Given the description of an element on the screen output the (x, y) to click on. 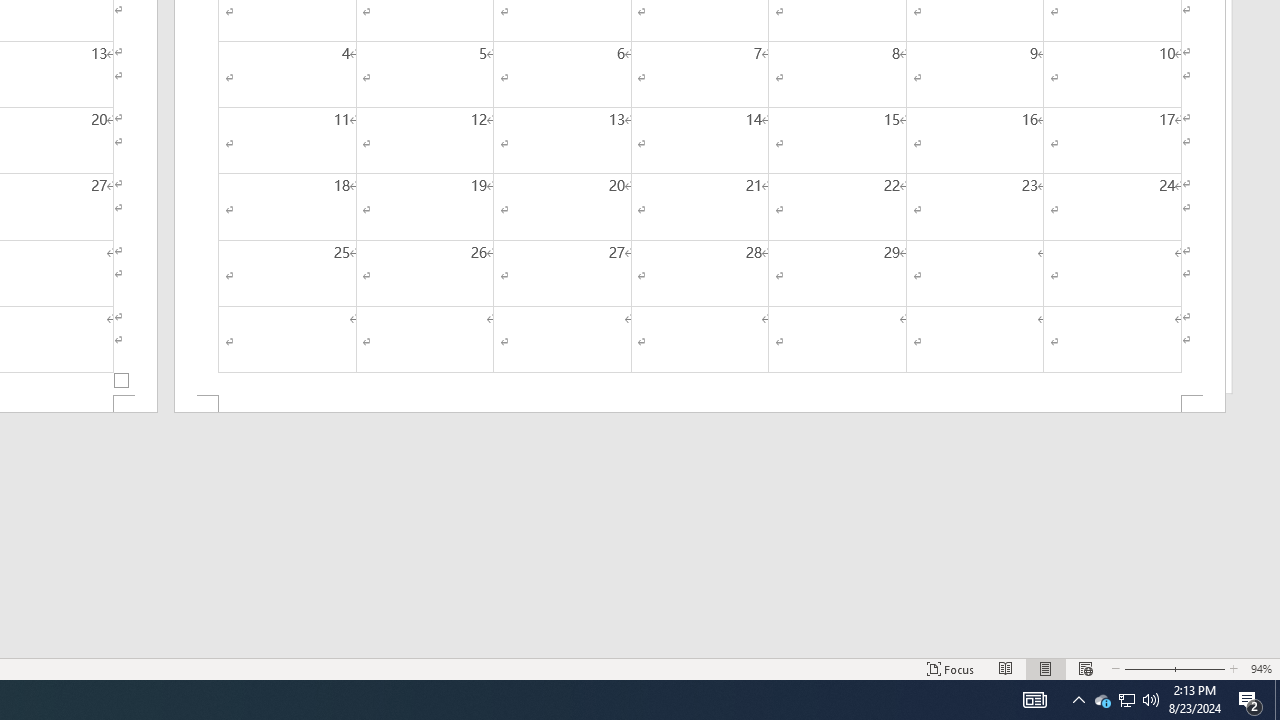
Footer -Section 2- (700, 404)
